Given the description of an element on the screen output the (x, y) to click on. 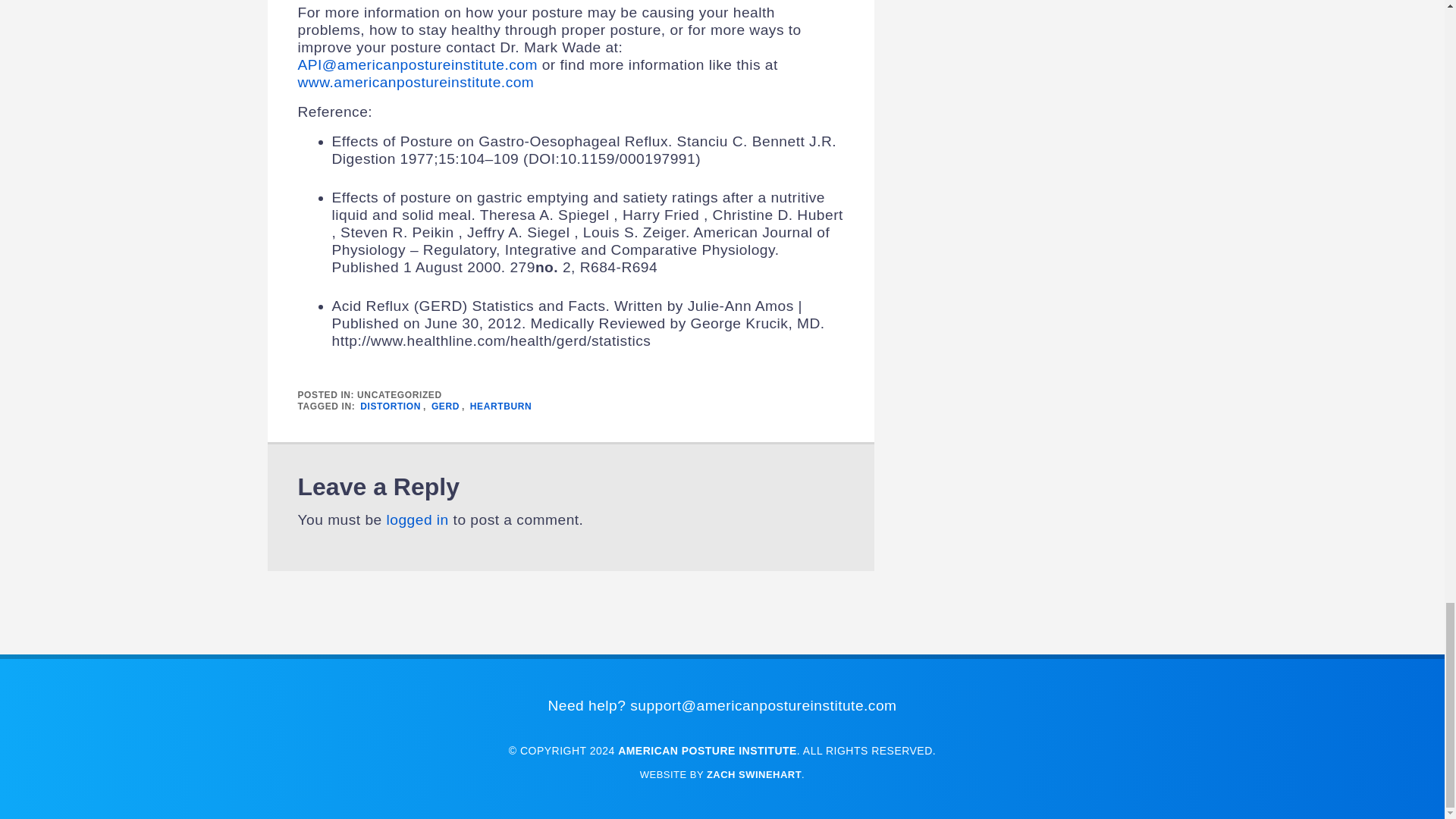
HEARTBURN (500, 406)
DISTORTION (390, 406)
GERD (445, 406)
www.americanpostureinstitute.com (415, 82)
logged in (417, 519)
